Given the description of an element on the screen output the (x, y) to click on. 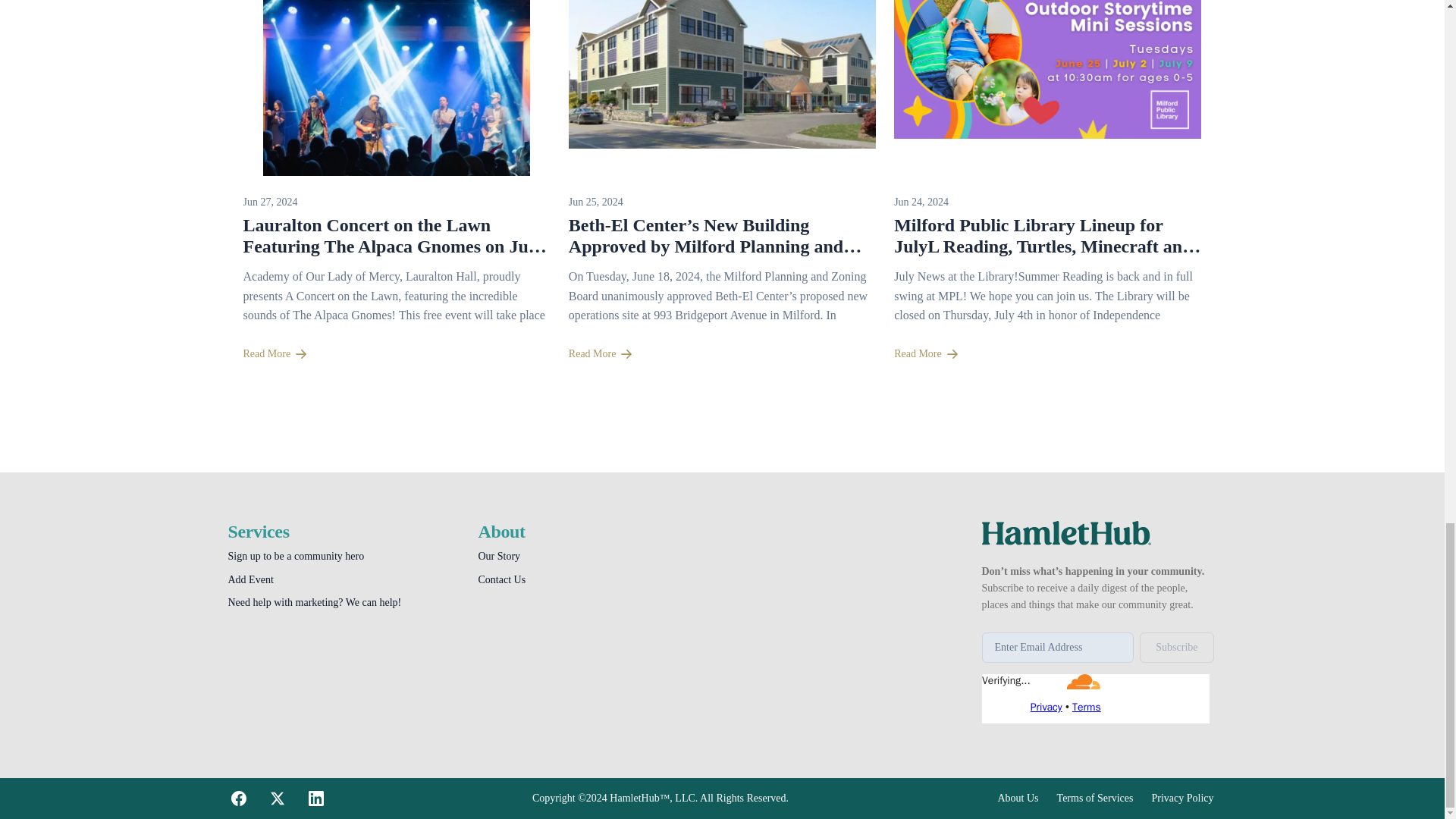
Sign up to be a community hero (295, 555)
Contact Us (501, 579)
Privacy Policy (1181, 797)
Our Story (498, 555)
Need help with marketing? We can help! (314, 602)
Terms of Services (1095, 797)
Read More (1047, 353)
Add Event (250, 579)
Subscribe (1176, 647)
Read More (396, 353)
Read More (722, 353)
About Us (1018, 797)
